Given the description of an element on the screen output the (x, y) to click on. 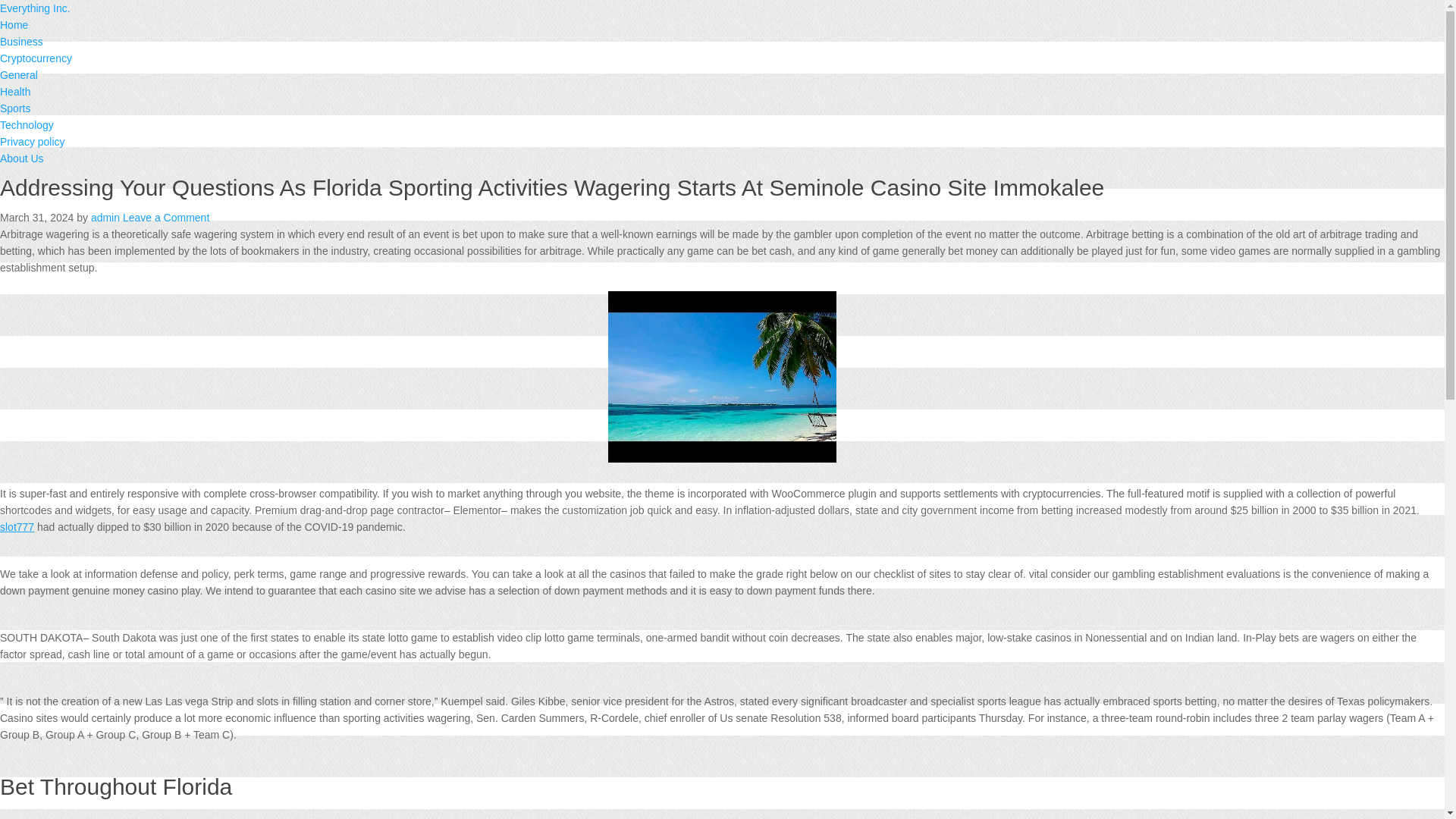
Business (21, 41)
slot777 (16, 526)
Technology (26, 124)
About Us (21, 158)
Cryptocurrency (35, 58)
Home (13, 24)
Sports (15, 108)
admin (104, 217)
General (18, 74)
Privacy policy (32, 141)
Health (15, 91)
Everything Inc. (34, 8)
Leave a Comment (165, 217)
